Given the description of an element on the screen output the (x, y) to click on. 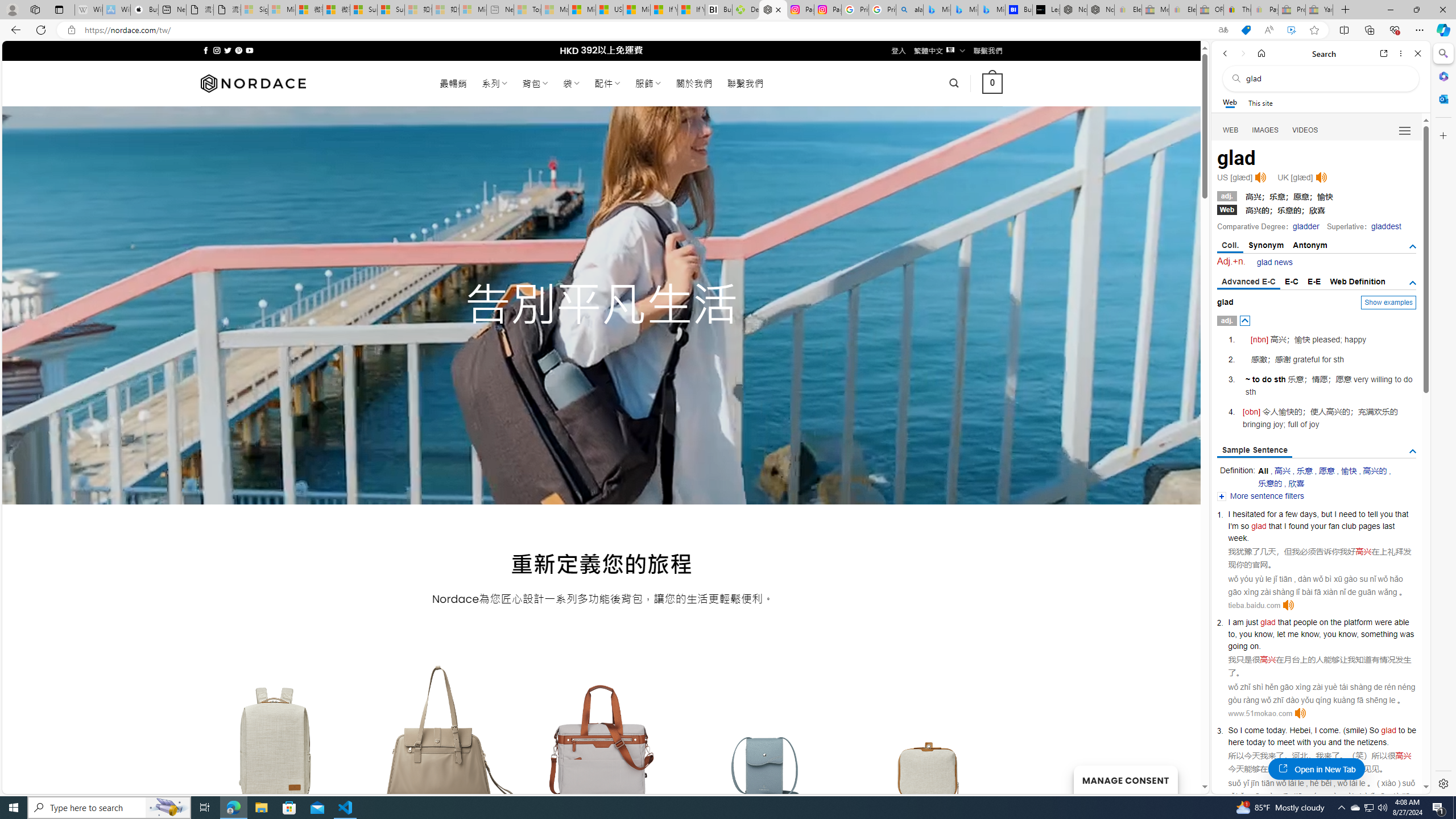
This site scope (1259, 102)
Preferences (1403, 129)
 0  (992, 83)
Address and search bar (646, 29)
Follow on Twitter (227, 50)
Synonym (1265, 245)
alabama high school quarterback dies - Search (909, 9)
, (1311, 729)
Payments Terms of Use | eBay.com - Sleeping (1264, 9)
